Given the description of an element on the screen output the (x, y) to click on. 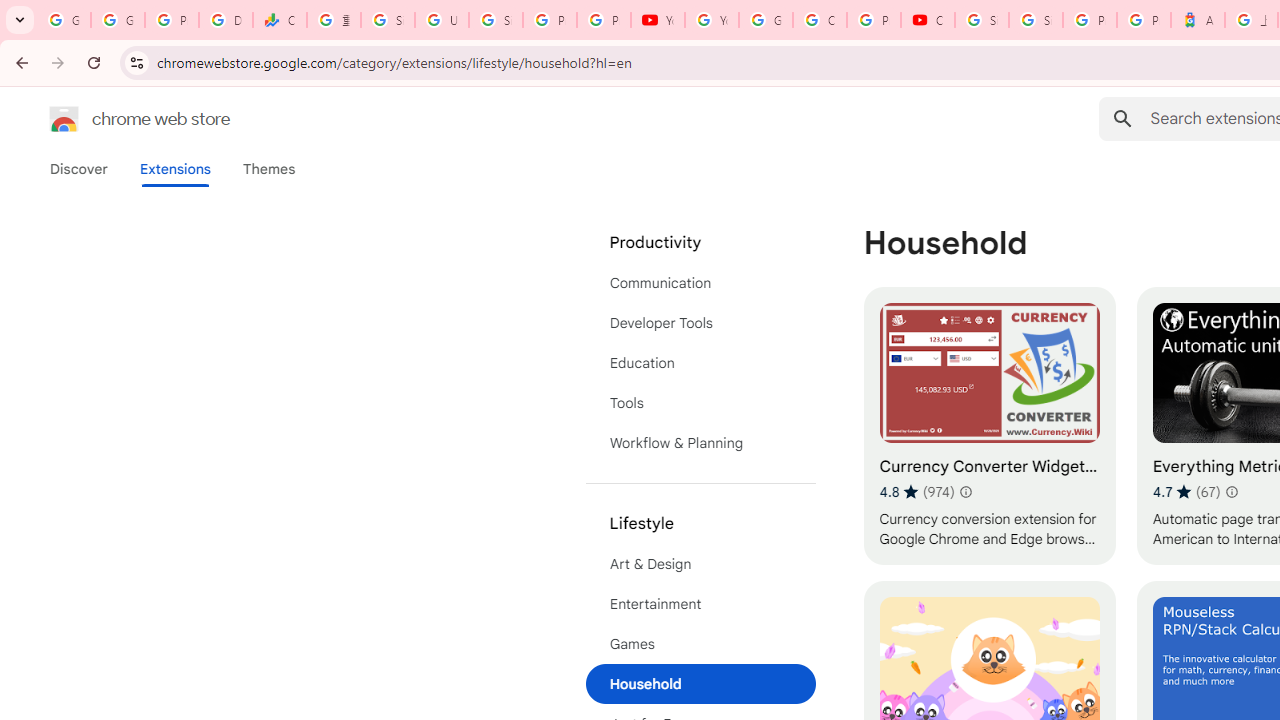
Extensions (174, 169)
Tools (700, 403)
Currency Converter Widget - Exchange Rates (989, 426)
Chrome Web Store logo (63, 118)
Entertainment (700, 603)
Games (700, 643)
YouTube (657, 20)
Sign in - Google Accounts (387, 20)
Discover (79, 169)
